Given the description of an element on the screen output the (x, y) to click on. 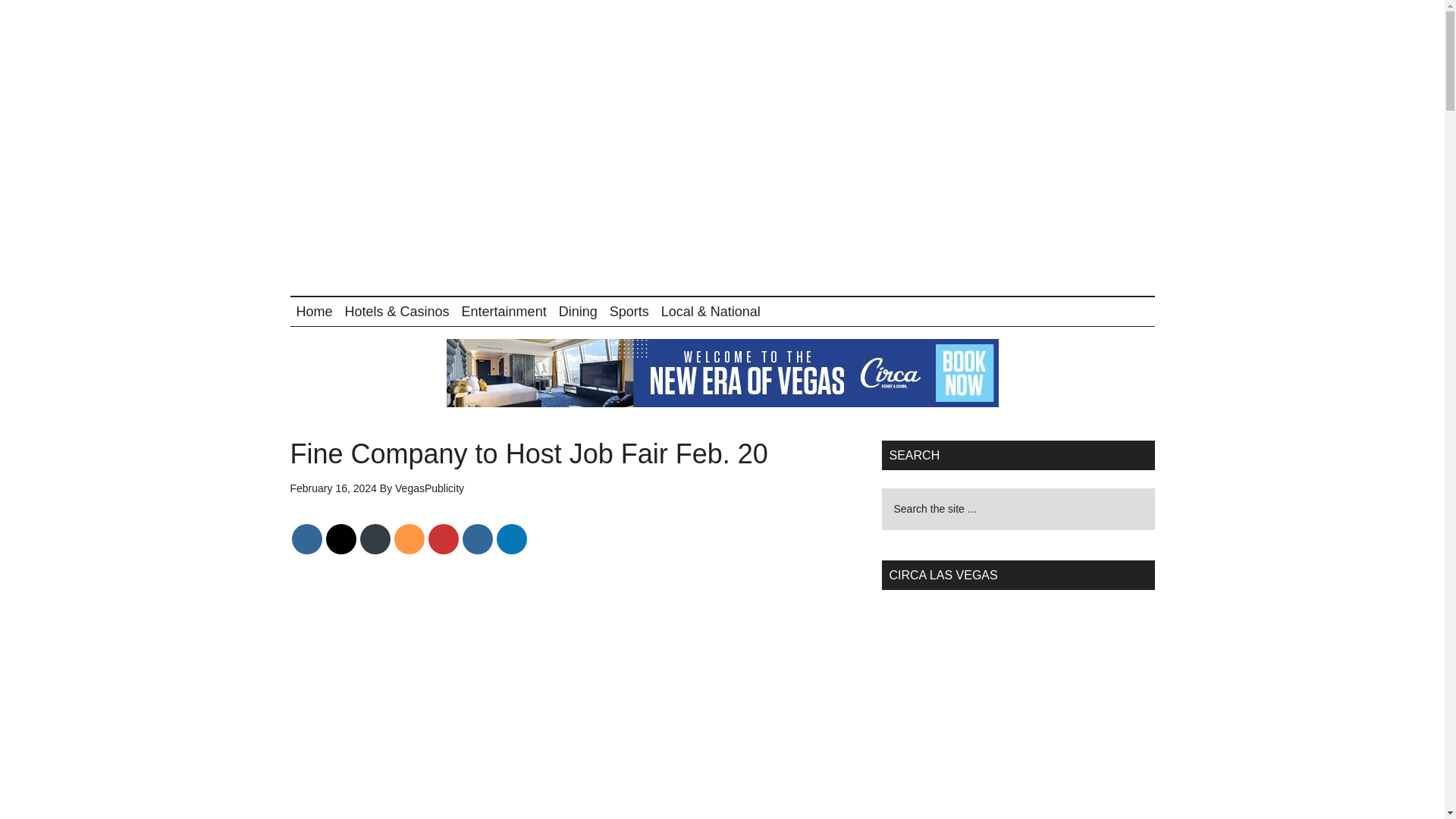
Facebook (306, 538)
Instagram (477, 538)
Sports (629, 311)
Home (313, 311)
LinkedIn (511, 538)
Entertainment (504, 311)
